Given the description of an element on the screen output the (x, y) to click on. 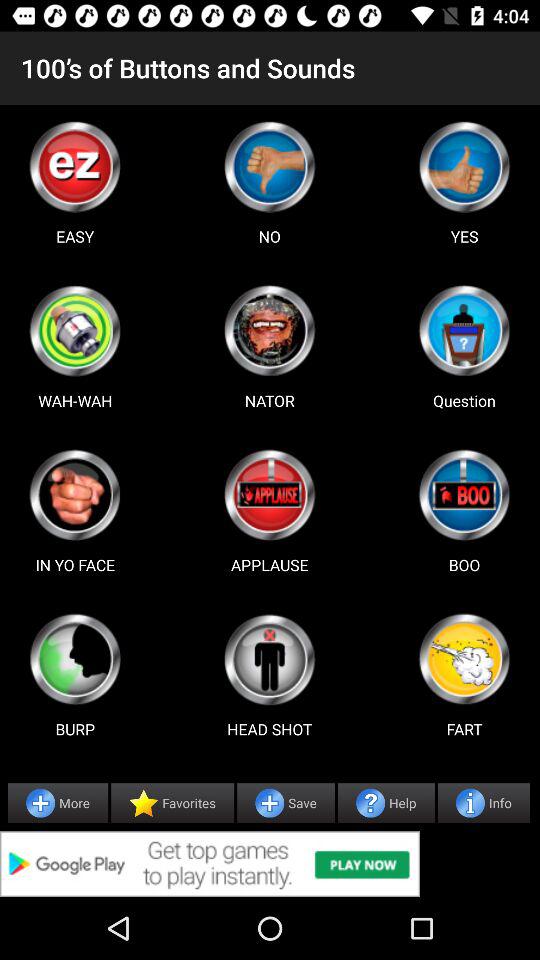
sound button (269, 659)
